Given the description of an element on the screen output the (x, y) to click on. 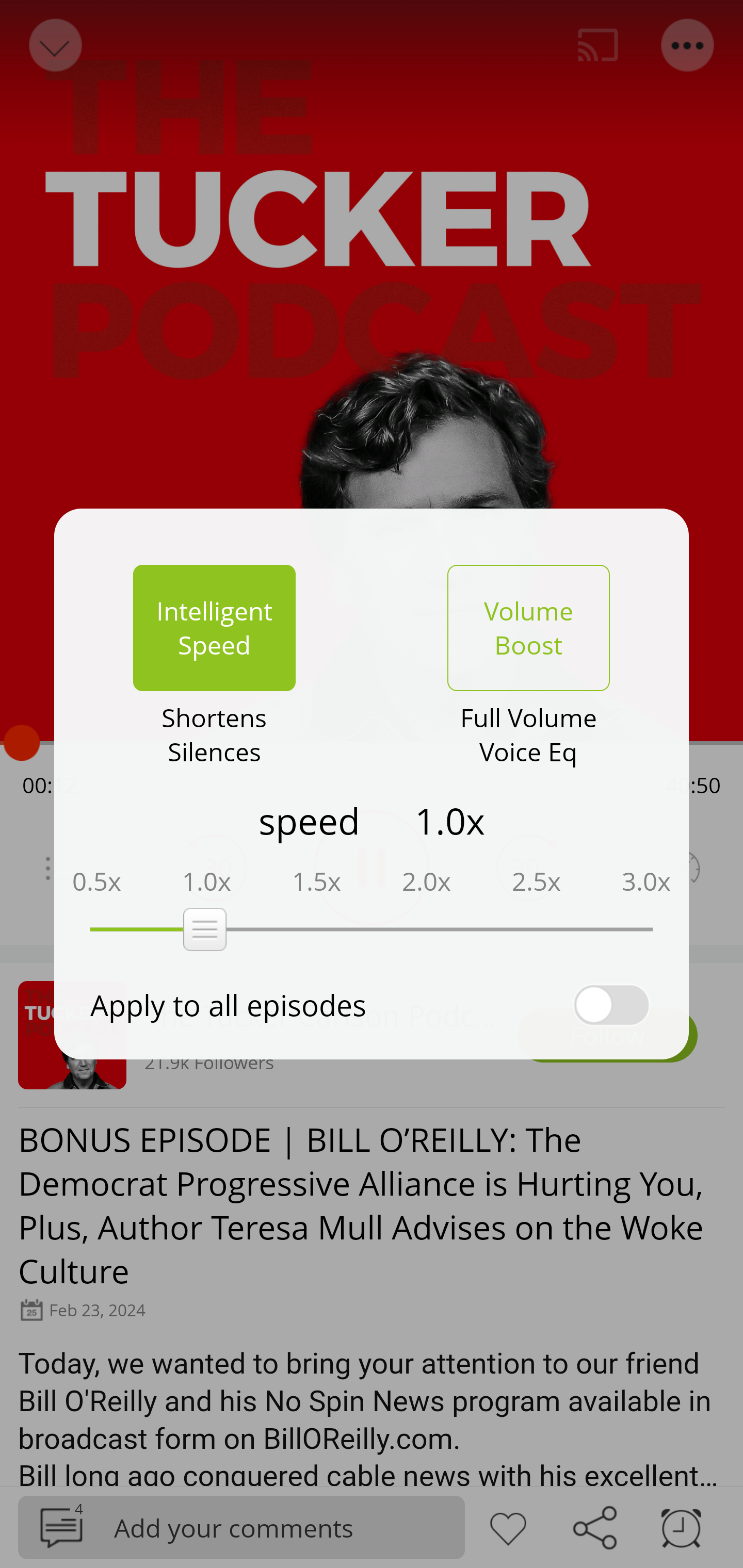
Intelligent
Speed (213, 627)
Volume
Boost (528, 627)
